Given the description of an element on the screen output the (x, y) to click on. 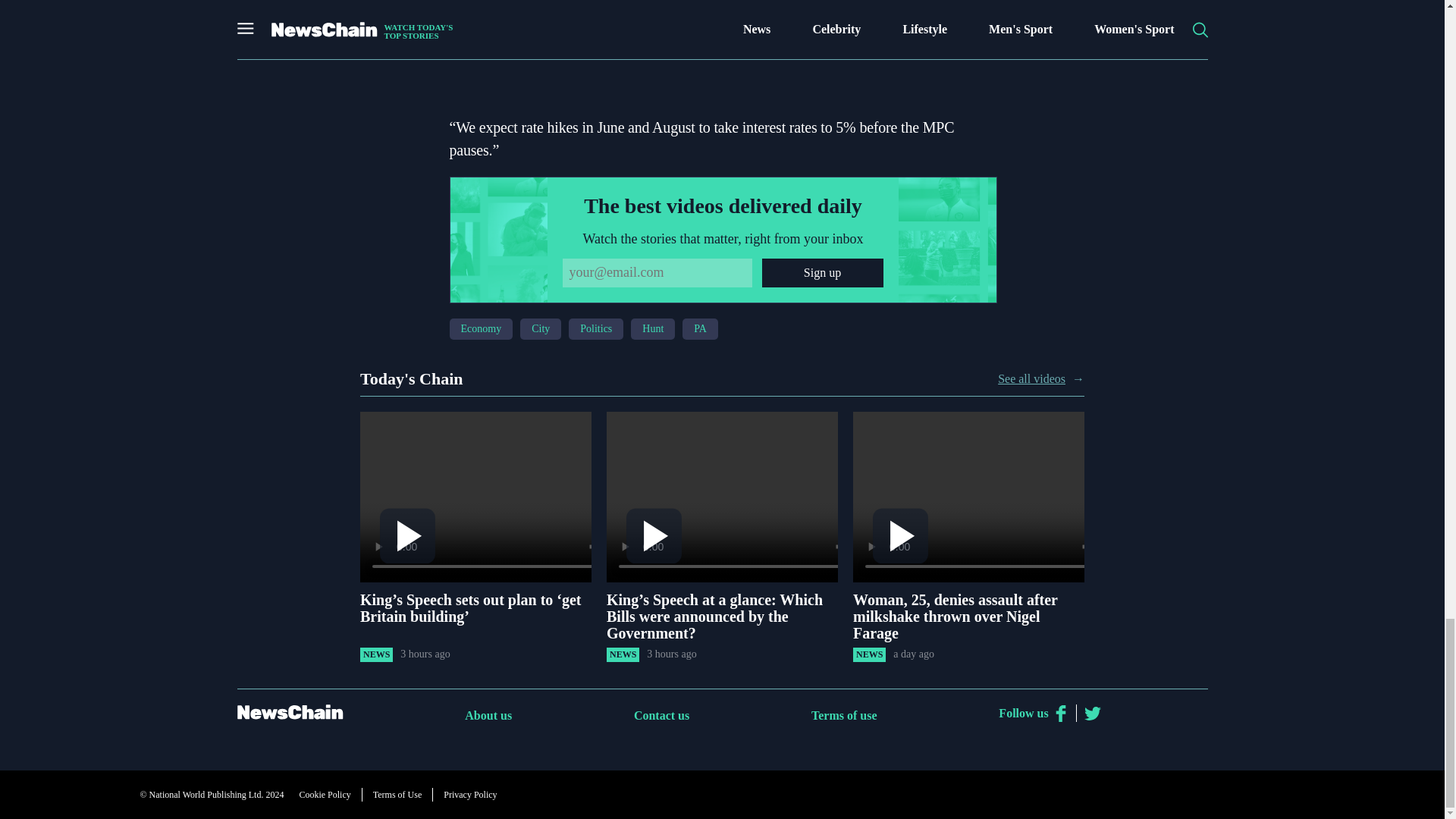
Politics (596, 328)
Sign up (822, 272)
Economy (480, 328)
About us (488, 715)
NEWS (623, 654)
Hunt (652, 328)
Terms of use (843, 715)
Contact us (660, 715)
See all videos (1031, 378)
PA (699, 328)
Sign up (822, 272)
